Given the description of an element on the screen output the (x, y) to click on. 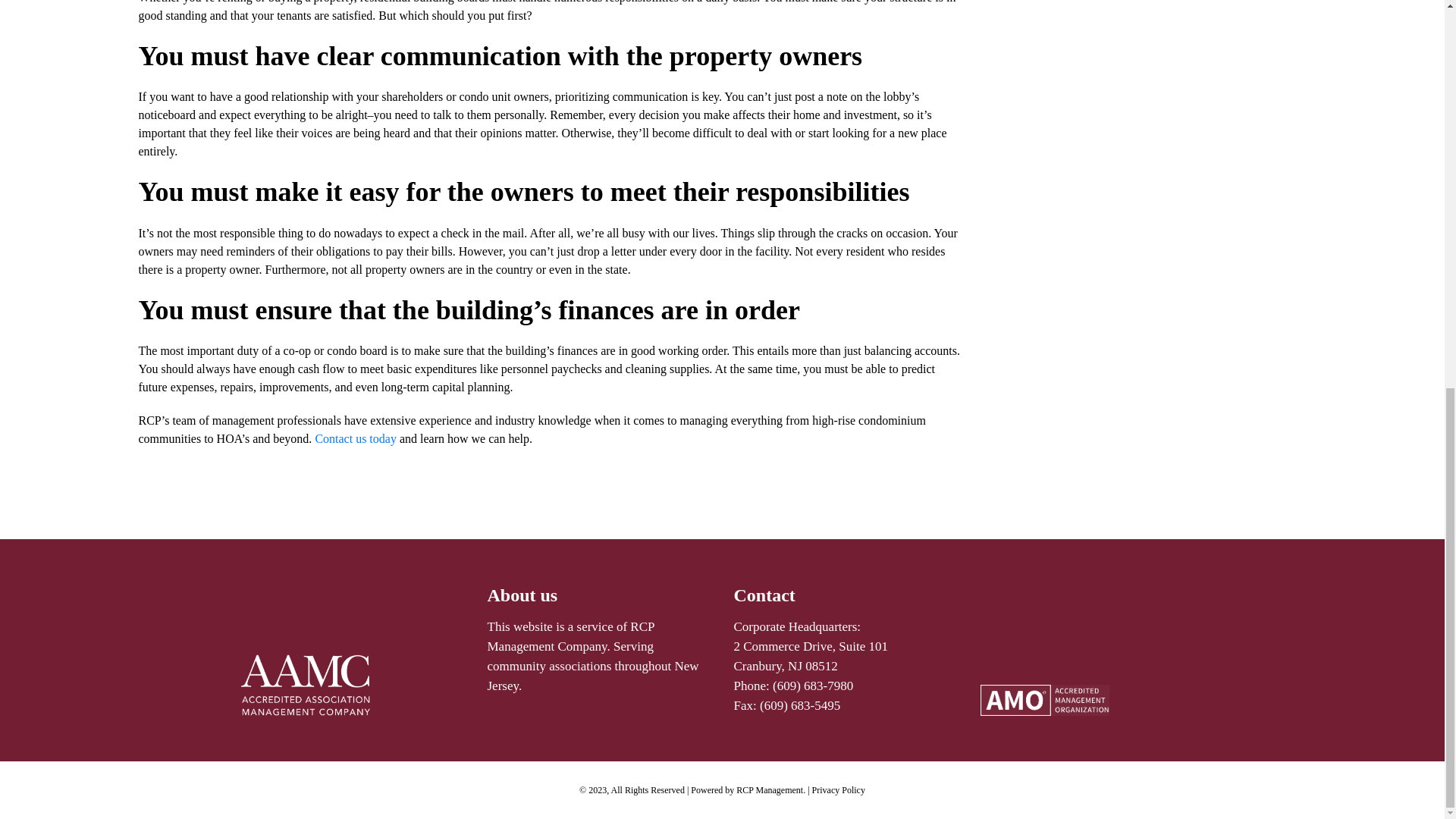
Contact us today (353, 438)
Privacy Policy (838, 789)
